Given the description of an element on the screen output the (x, y) to click on. 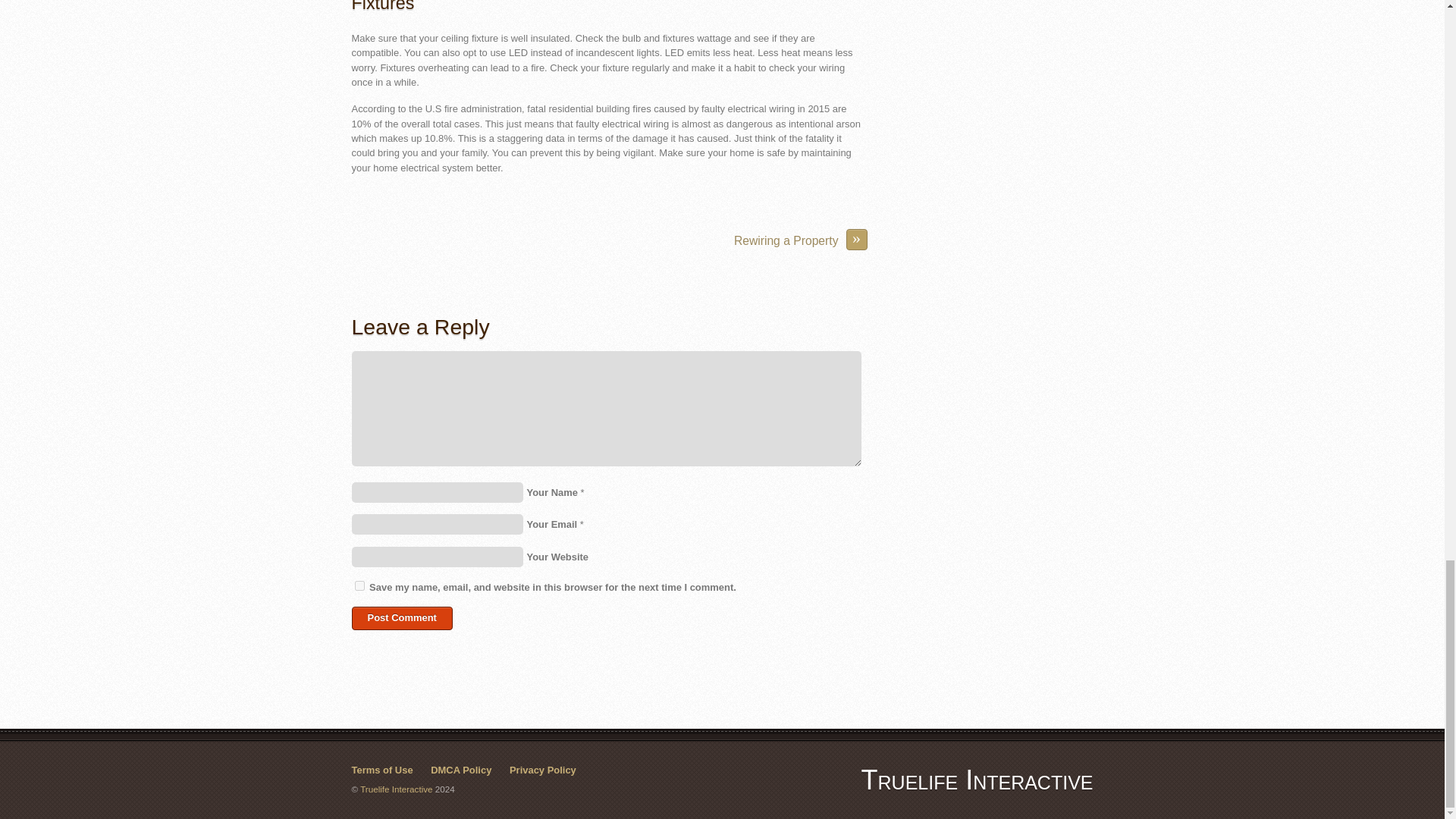
Post Comment (402, 617)
Privacy Policy (542, 769)
yes (360, 585)
DMCA Policy (461, 769)
Post Comment (402, 617)
Truelife Interactive (977, 779)
Truelife Interactive (977, 779)
Terms of Use (382, 769)
